Given the description of an element on the screen output the (x, y) to click on. 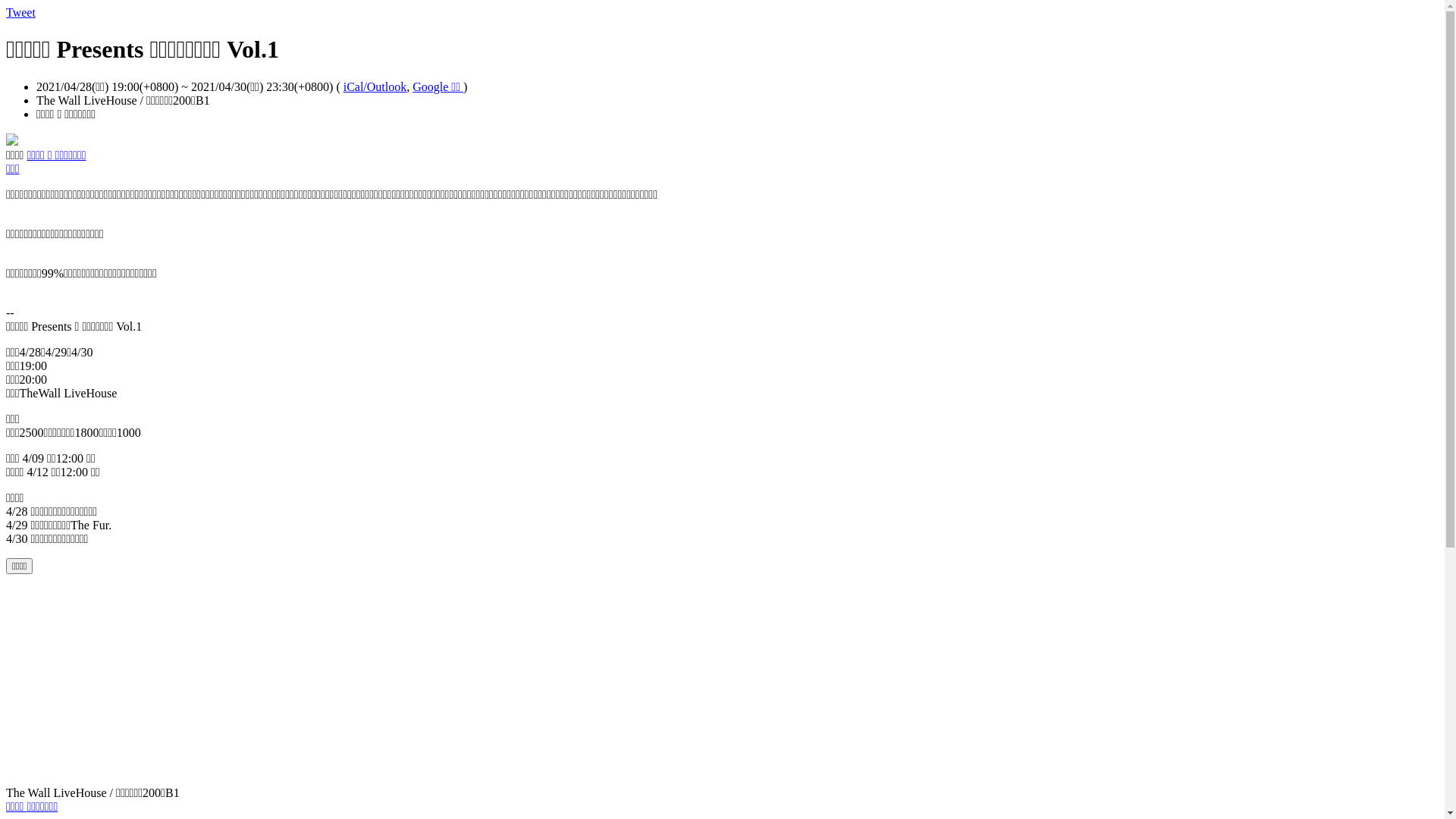
iCal/Outlook Element type: text (375, 86)
Tweet Element type: text (20, 12)
